Given the description of an element on the screen output the (x, y) to click on. 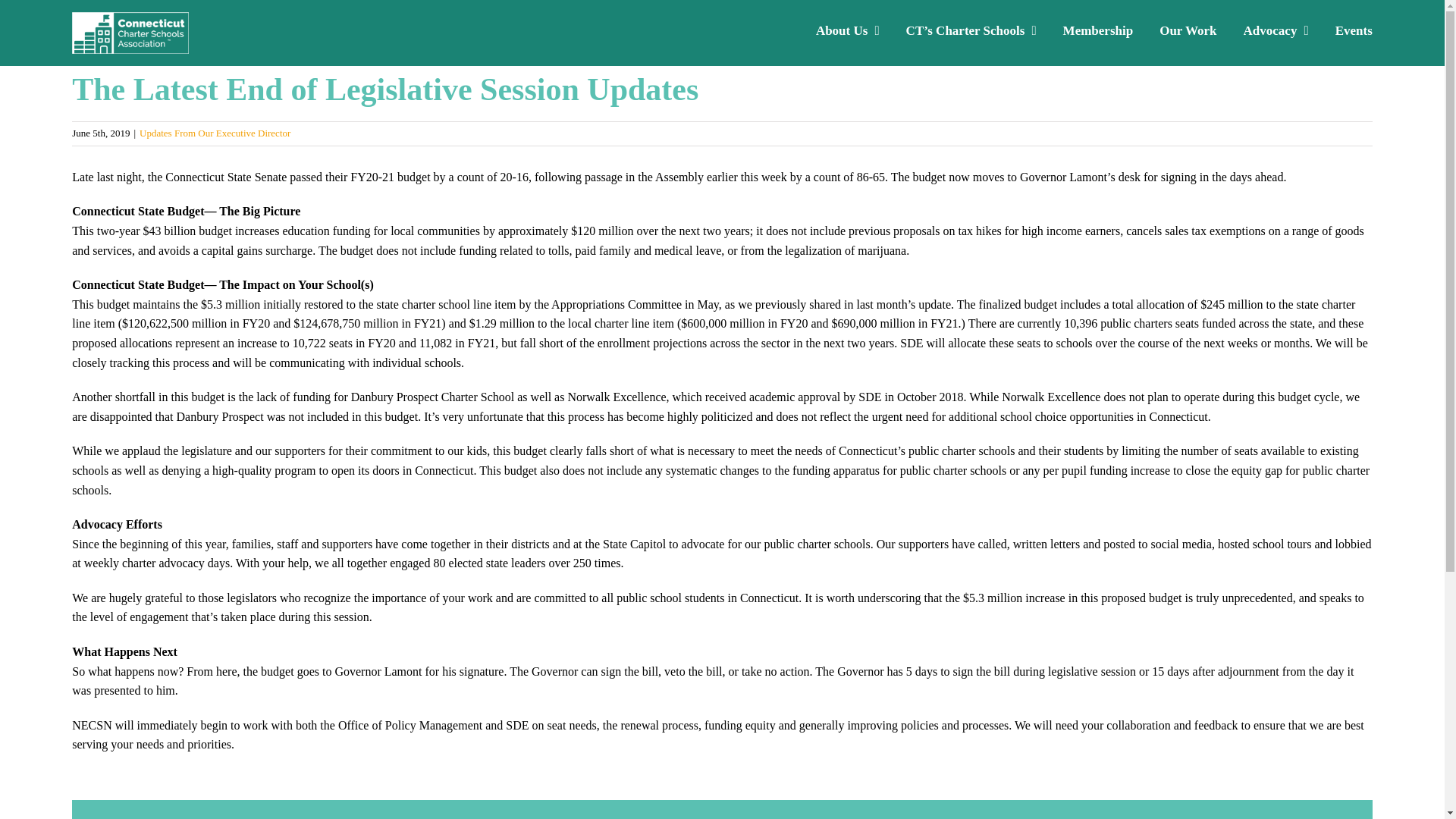
Events (1354, 28)
Updates From Our Executive Director (214, 132)
Membership (1098, 28)
About Us (847, 28)
Our Work (1186, 28)
Advocacy (1275, 28)
